Given the description of an element on the screen output the (x, y) to click on. 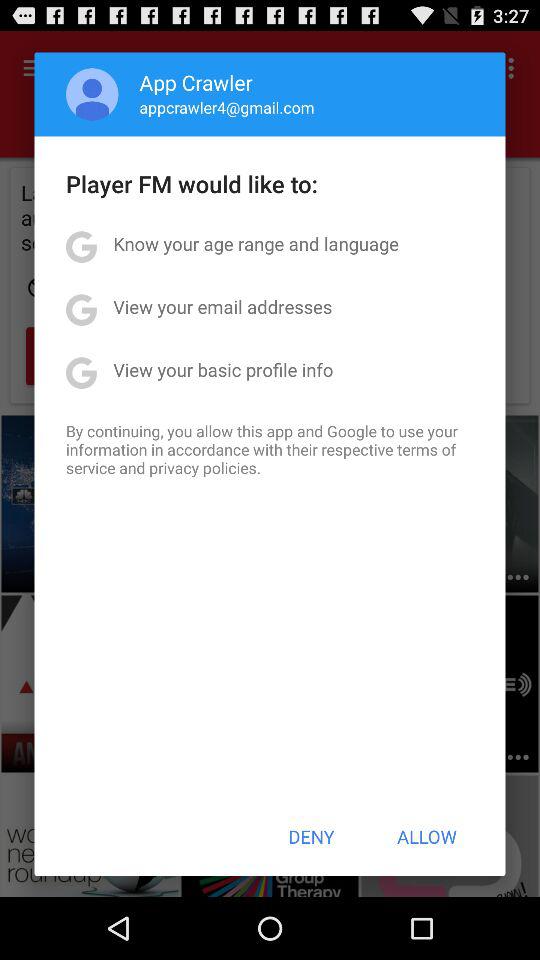
swipe to the deny item (311, 836)
